Given the description of an element on the screen output the (x, y) to click on. 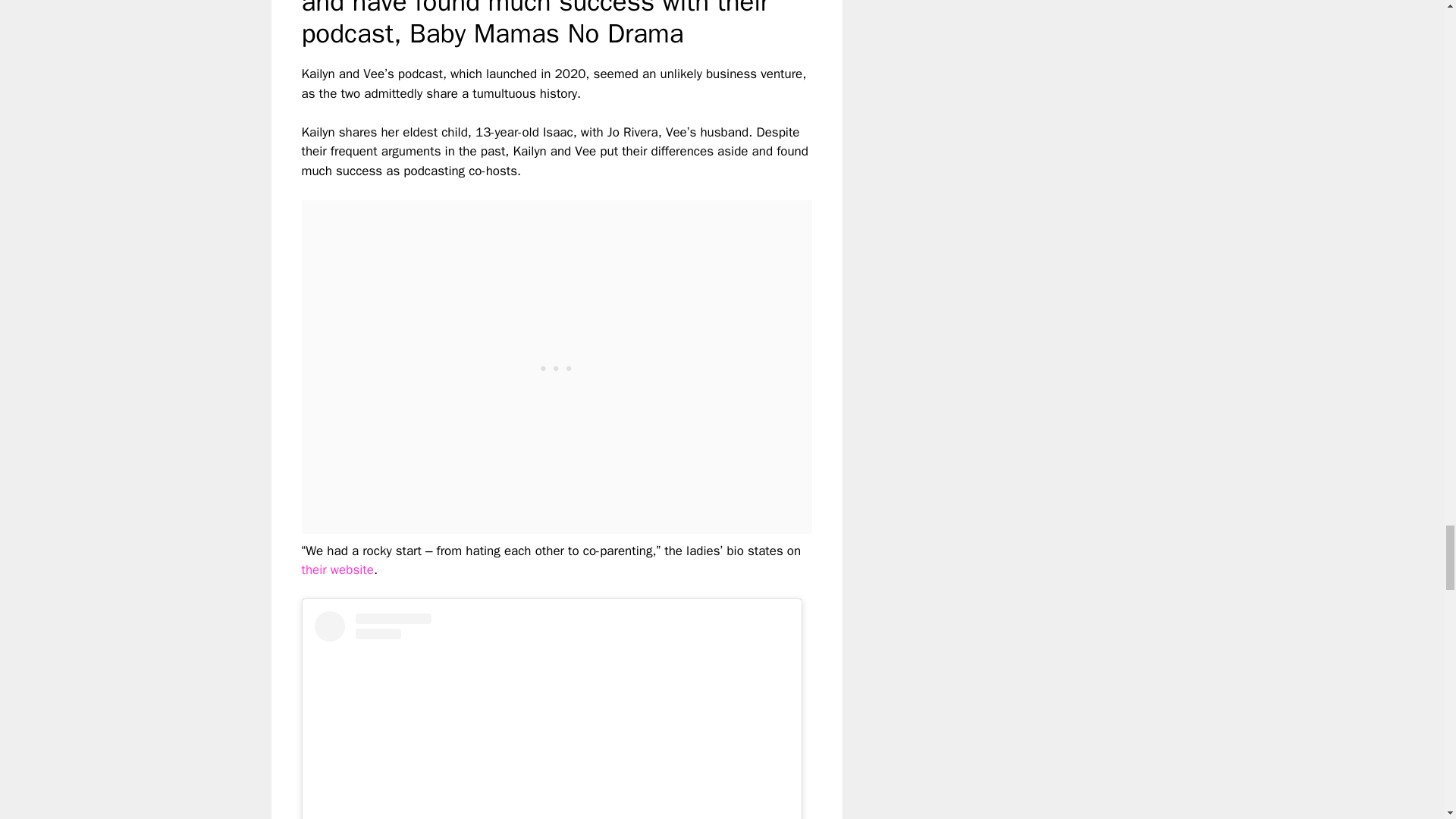
View this post on Instagram (551, 714)
their website (337, 569)
